Given the description of an element on the screen output the (x, y) to click on. 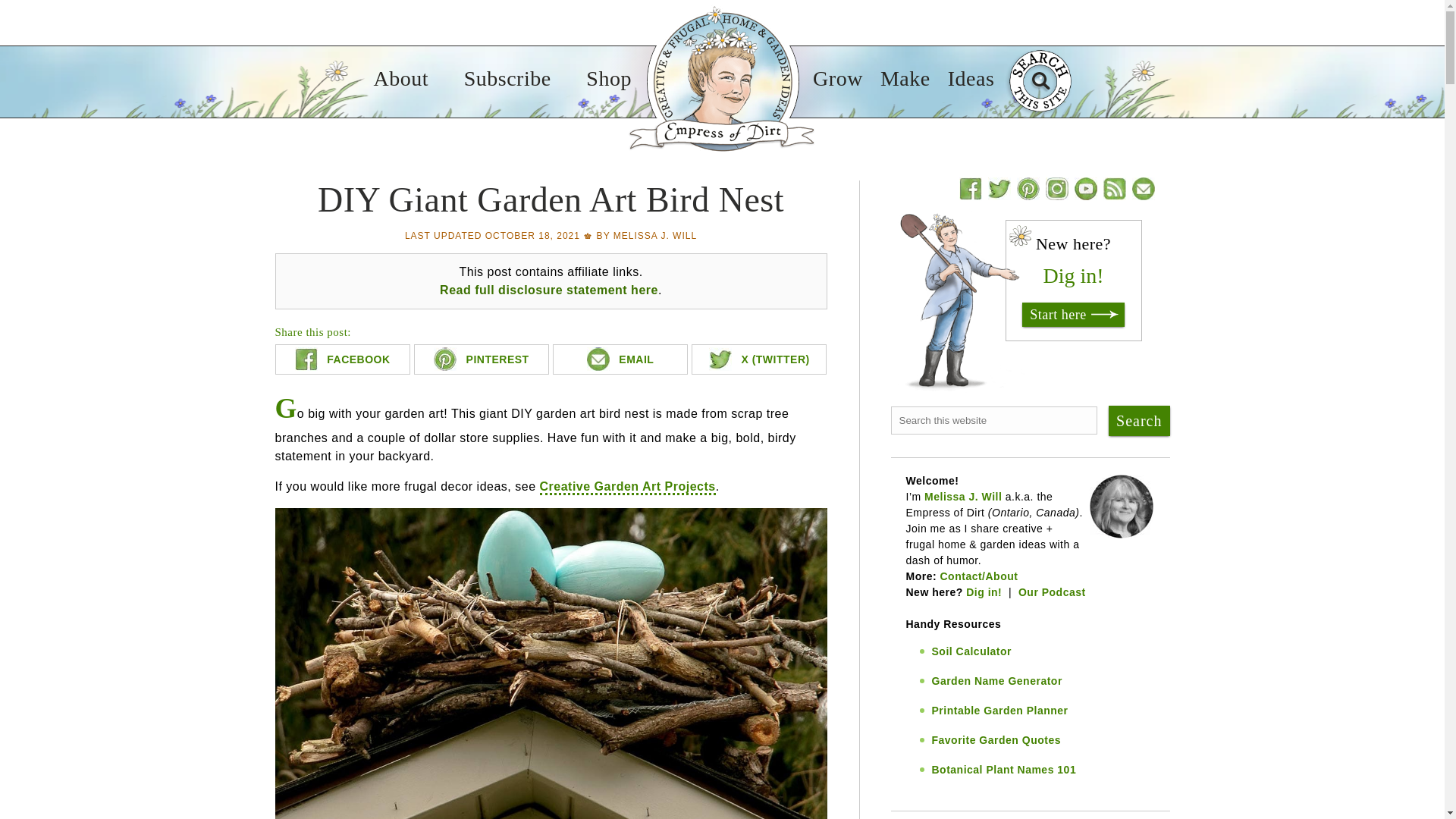
Search (1138, 420)
FACEBOOK (342, 358)
Search (1138, 420)
PINTEREST (480, 358)
EMAIL (620, 358)
Start here (1073, 314)
